Given the description of an element on the screen output the (x, y) to click on. 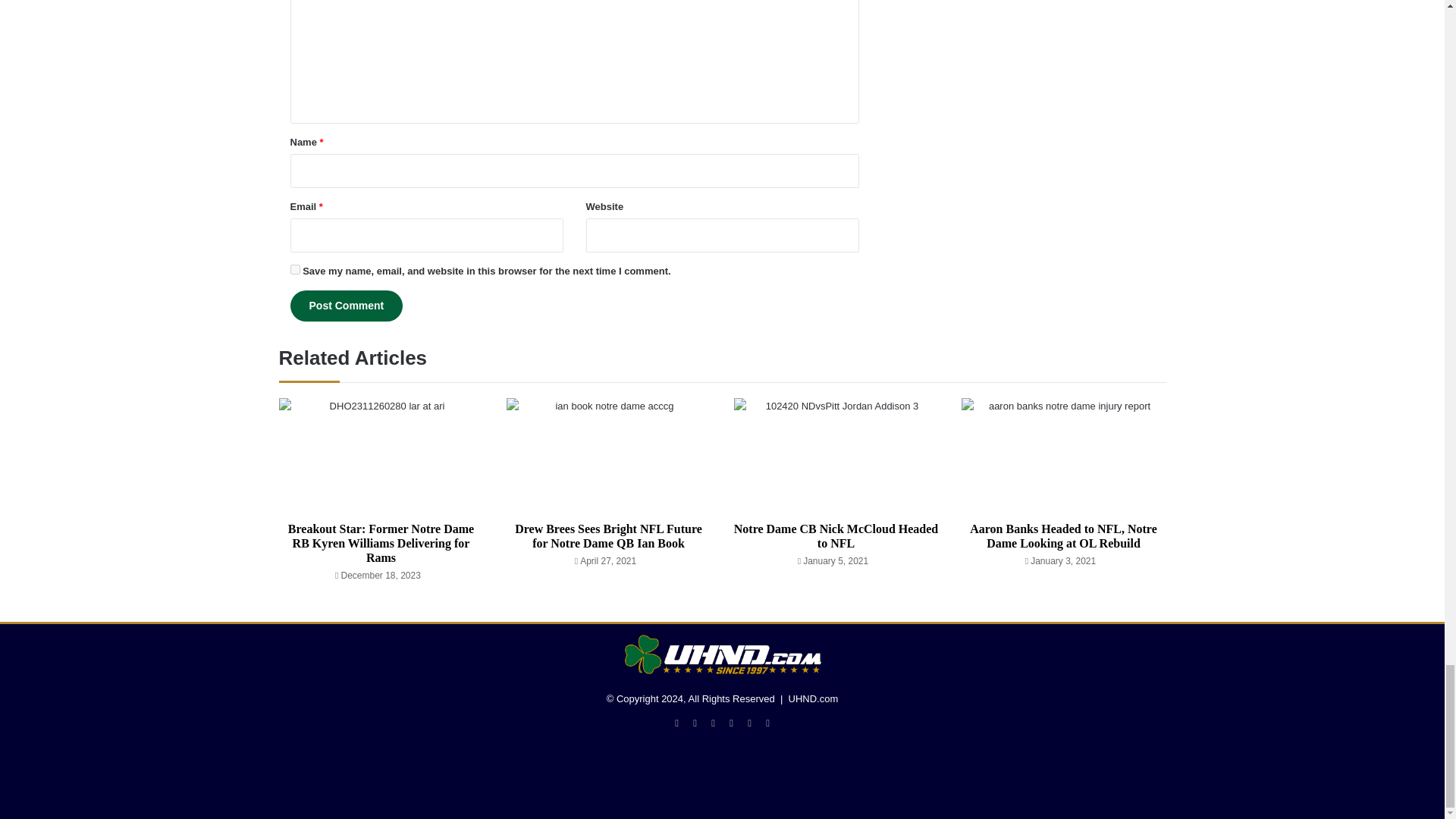
Post Comment (346, 305)
yes (294, 269)
